Given the description of an element on the screen output the (x, y) to click on. 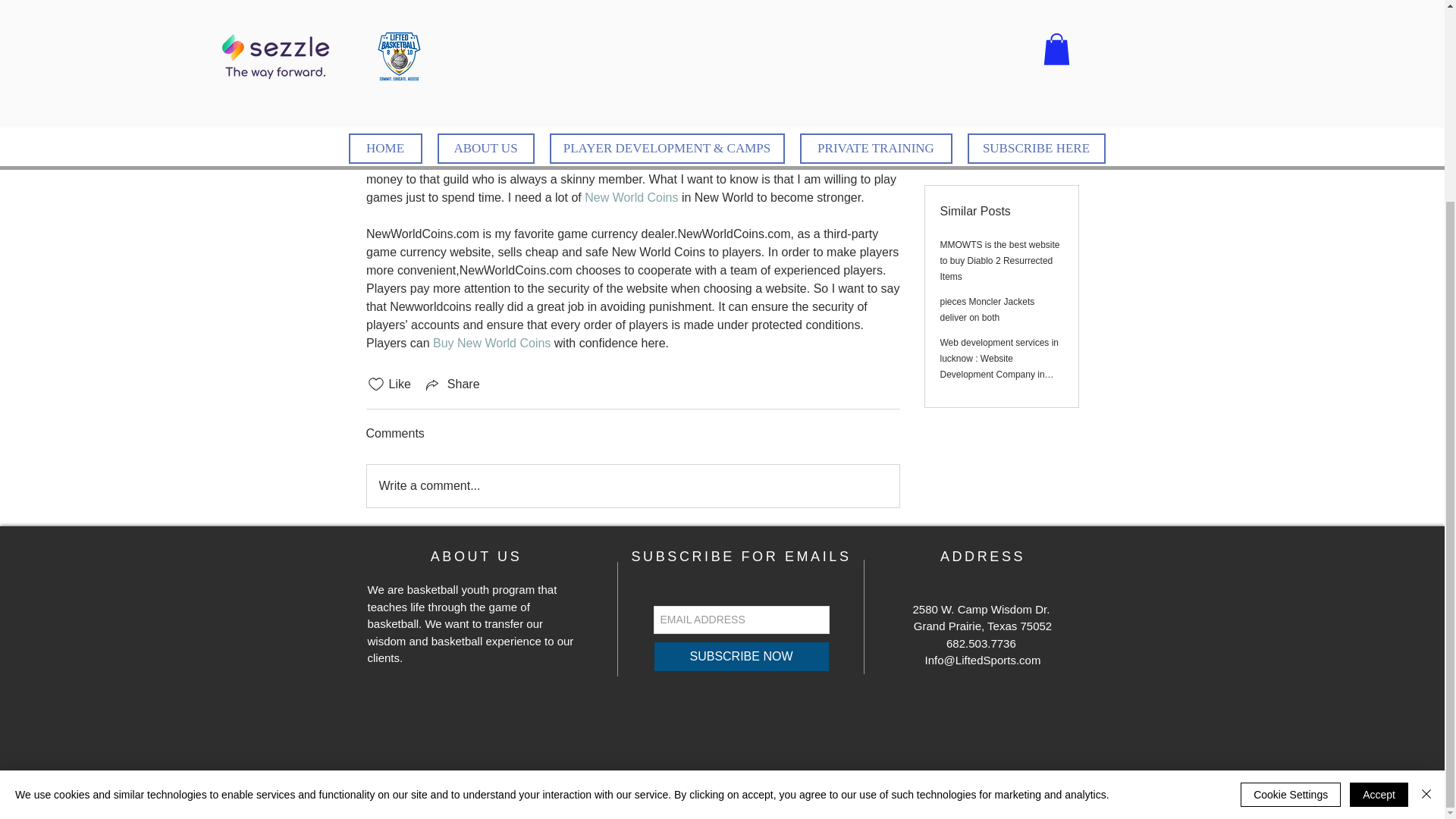
Write a comment... (632, 485)
SUBSCRIBE NOW (741, 656)
in General Discussions (427, 95)
Cookie Settings (1290, 536)
Follow Post (1000, 35)
MMOWTS is the best website to buy Diablo 2 Resurrected Items (999, 228)
Buy New World Coins (414, 6)
Accept (491, 342)
